Given the description of an element on the screen output the (x, y) to click on. 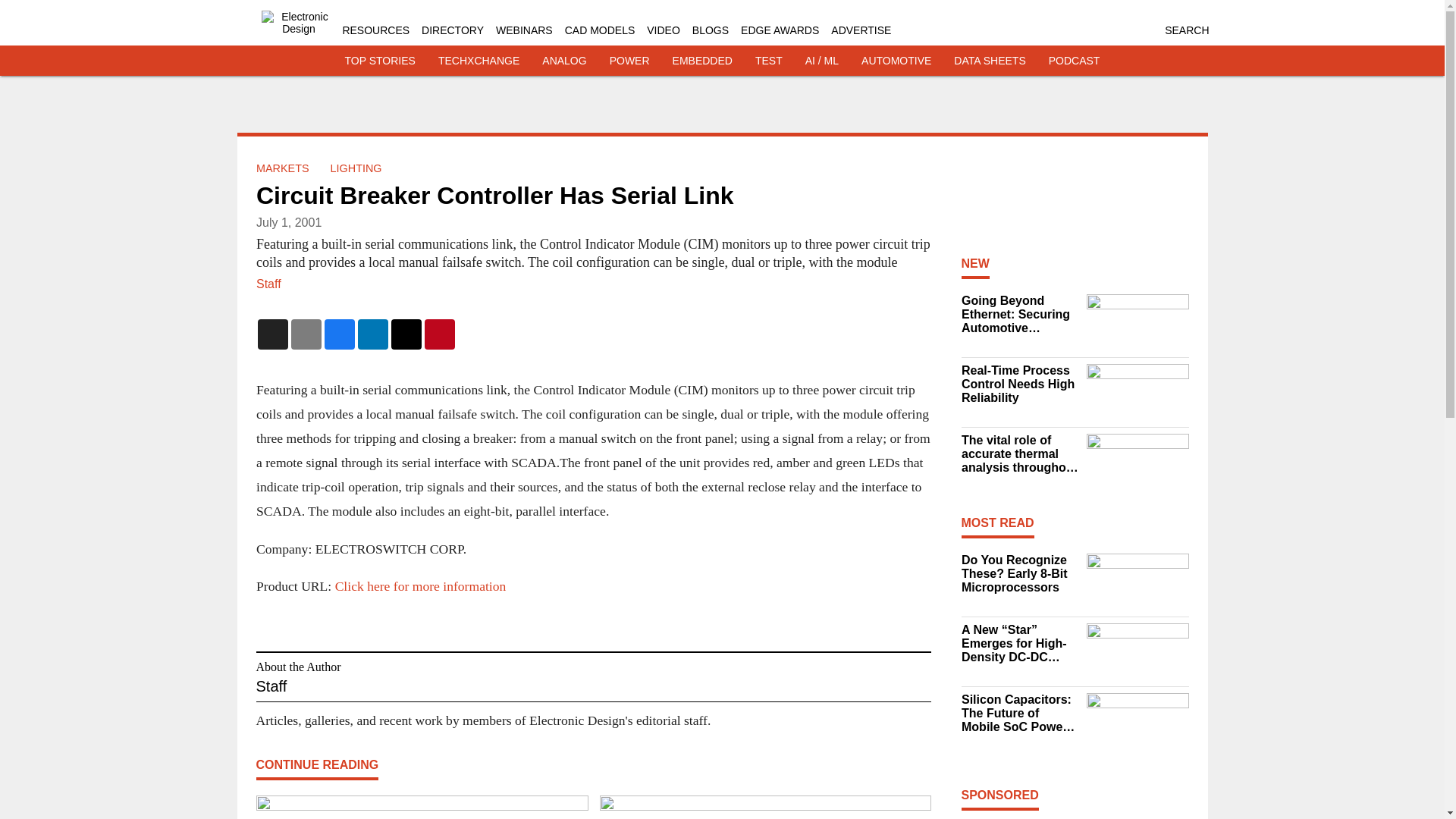
TOP STORIES (379, 60)
MARKETS (282, 168)
POWER (629, 60)
PODCAST (1074, 60)
AUTOMOTIVE (896, 60)
Staff (268, 283)
EDGE AWARDS (779, 30)
ADVERTISE (861, 30)
EMBEDDED (702, 60)
SEARCH (1186, 30)
